Given the description of an element on the screen output the (x, y) to click on. 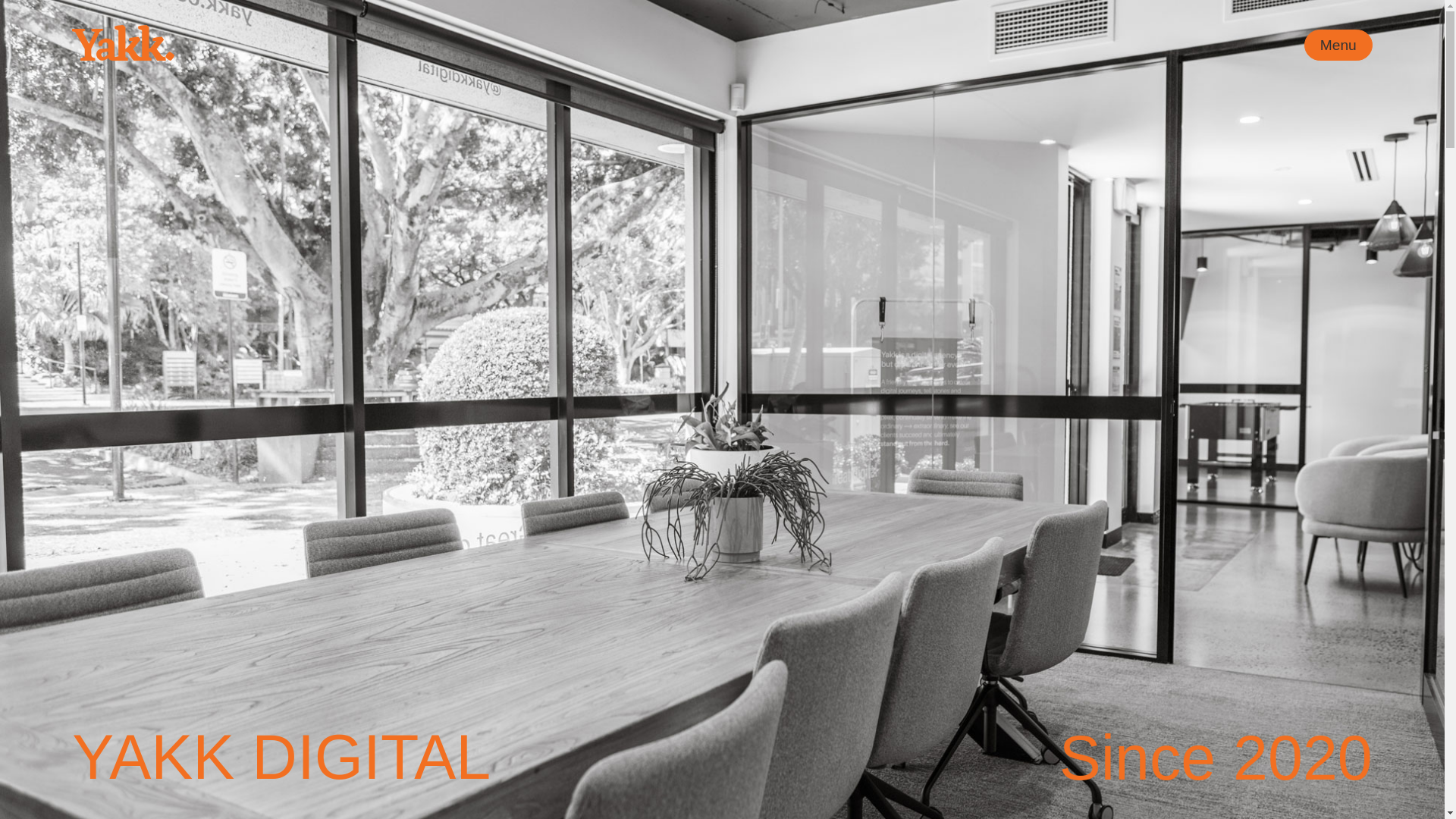
Menu (1338, 44)
